Given the description of an element on the screen output the (x, y) to click on. 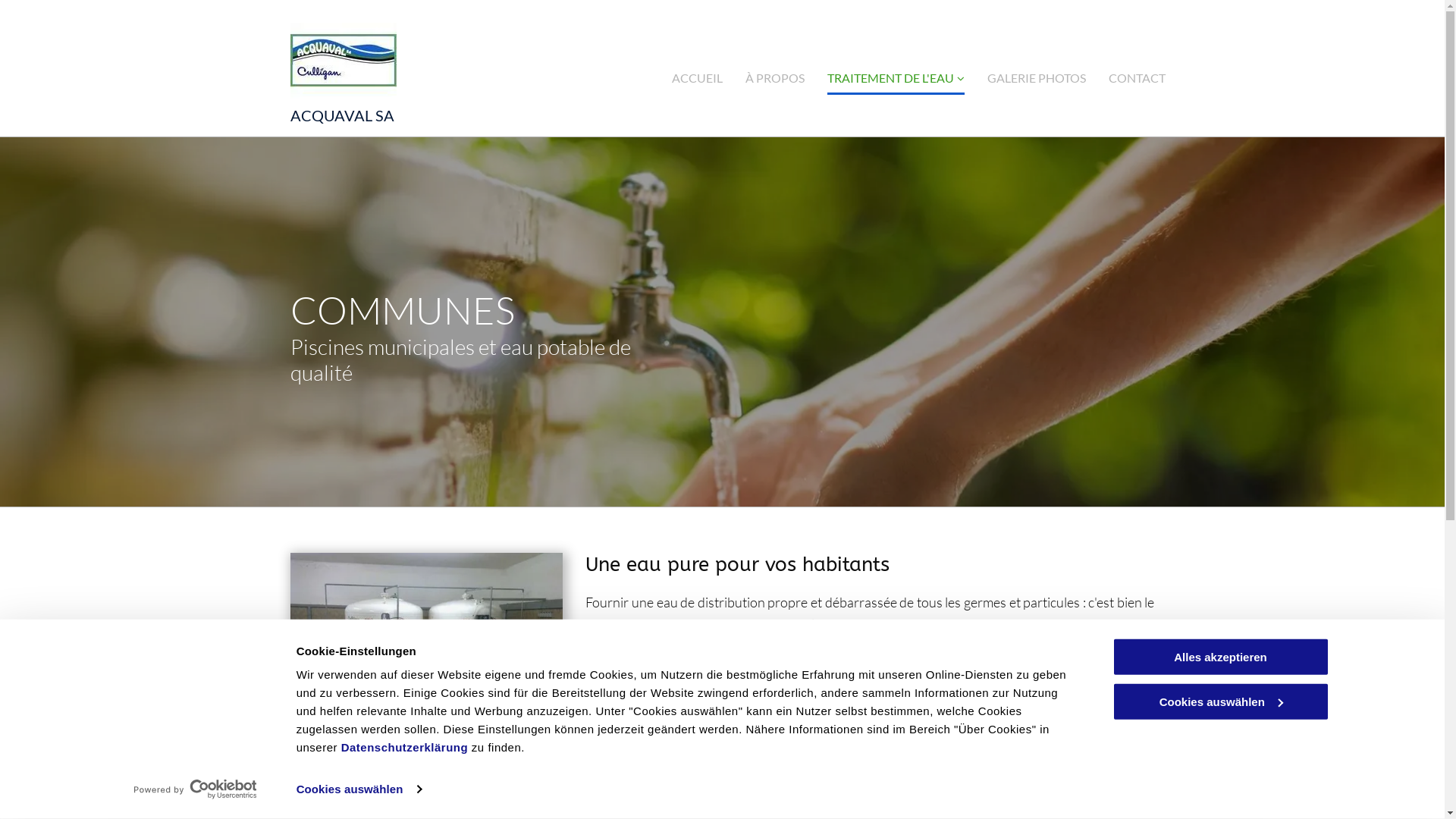
GALERIE PHOTOS Element type: text (1036, 76)
TRAITEMENT DE L'EAU Element type: text (895, 76)
ACQUAVAL SA Element type: text (341, 115)
CONTACT Element type: text (1136, 76)
Alles akzeptieren Element type: text (1219, 656)
ACCUEIL Element type: text (696, 76)
